Given the description of an element on the screen output the (x, y) to click on. 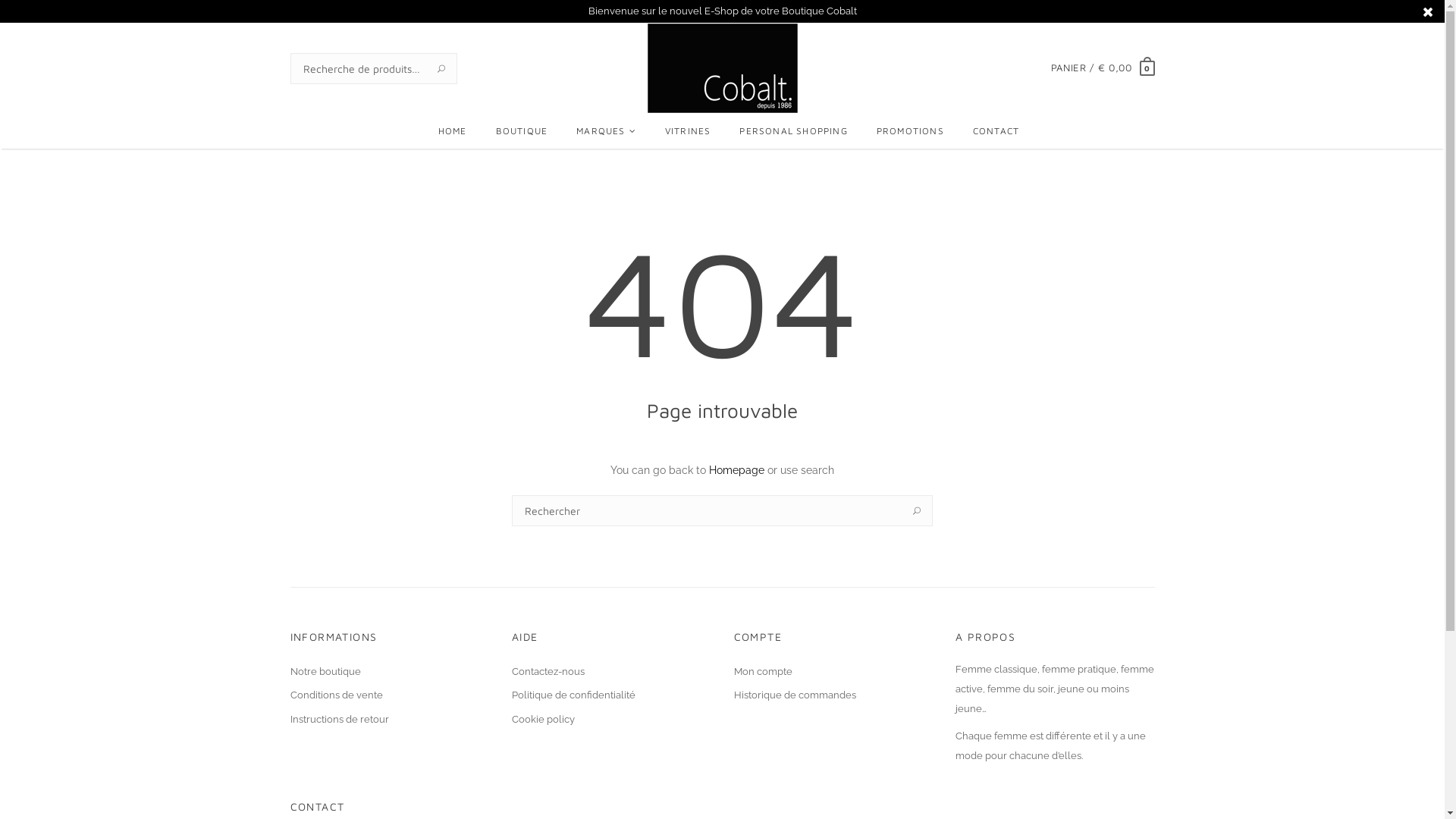
CONTACT Element type: text (989, 130)
Notre boutique Element type: text (389, 671)
Conditions de vente Element type: text (389, 694)
Historique de commandes Element type: text (833, 694)
PERSONAL SHOPPING Element type: text (792, 130)
Homepage Element type: text (736, 470)
VITRINES Element type: text (688, 130)
BOUTIQUE Element type: text (522, 130)
Cookie policy Element type: text (611, 719)
Mon compte Element type: text (833, 671)
MARQUES Element type: text (606, 130)
PROMOTIONS Element type: text (910, 130)
HOME Element type: text (452, 130)
Contactez-nous Element type: text (611, 671)
Instructions de retour Element type: text (389, 719)
Recherche Element type: text (440, 68)
0 Element type: text (1146, 67)
